Given the description of an element on the screen output the (x, y) to click on. 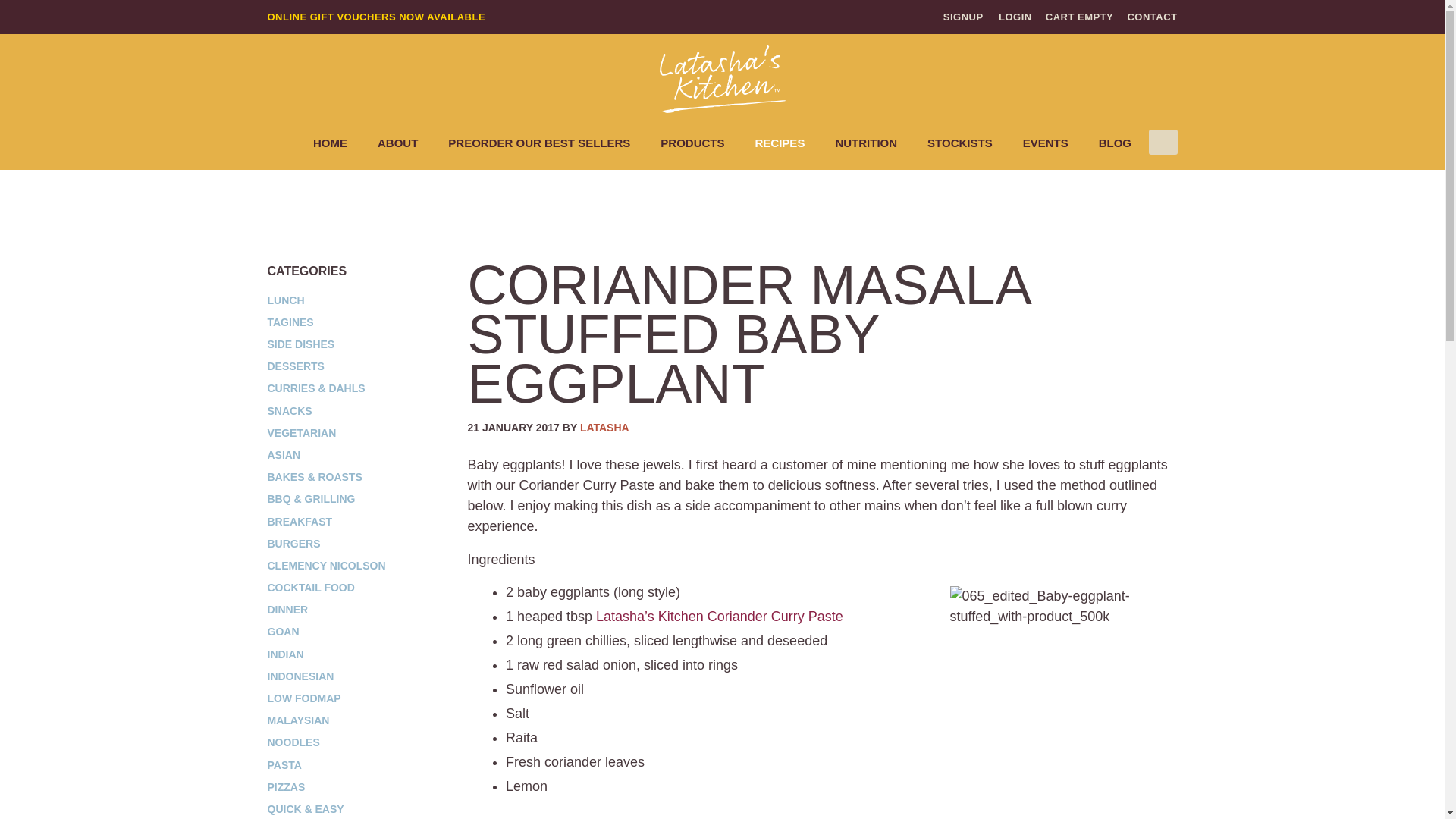
Go (1162, 142)
STOCKISTS (960, 142)
Go (1162, 142)
EVENTS (1044, 142)
CONTACT (1151, 16)
LUNCH (285, 300)
TAGINES (289, 322)
ABOUT (397, 142)
ONLINE GIFT VOUCHERS NOW AVAILABLE (375, 16)
Recipes by Latasha (603, 427)
BLOG (1114, 142)
PREORDER OUR BEST SELLERS (539, 142)
NUTRITION (865, 142)
PRODUCTS (692, 142)
Side Dishes (419, 188)
